Given the description of an element on the screen output the (x, y) to click on. 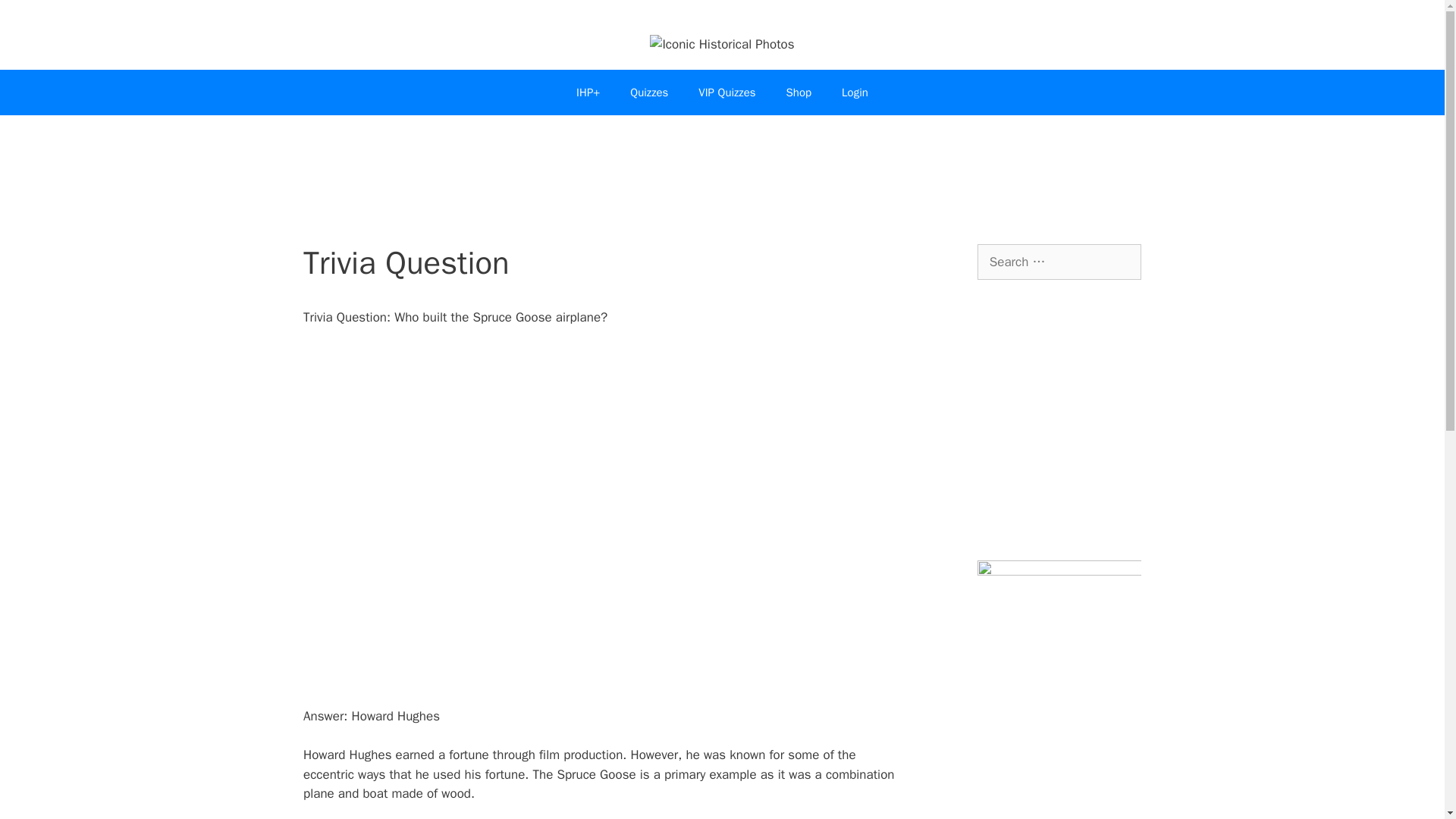
Search (35, 18)
Shop (799, 92)
VIP Quizzes (726, 92)
Login (855, 92)
Quizzes (648, 92)
Search for: (1058, 262)
